Given the description of an element on the screen output the (x, y) to click on. 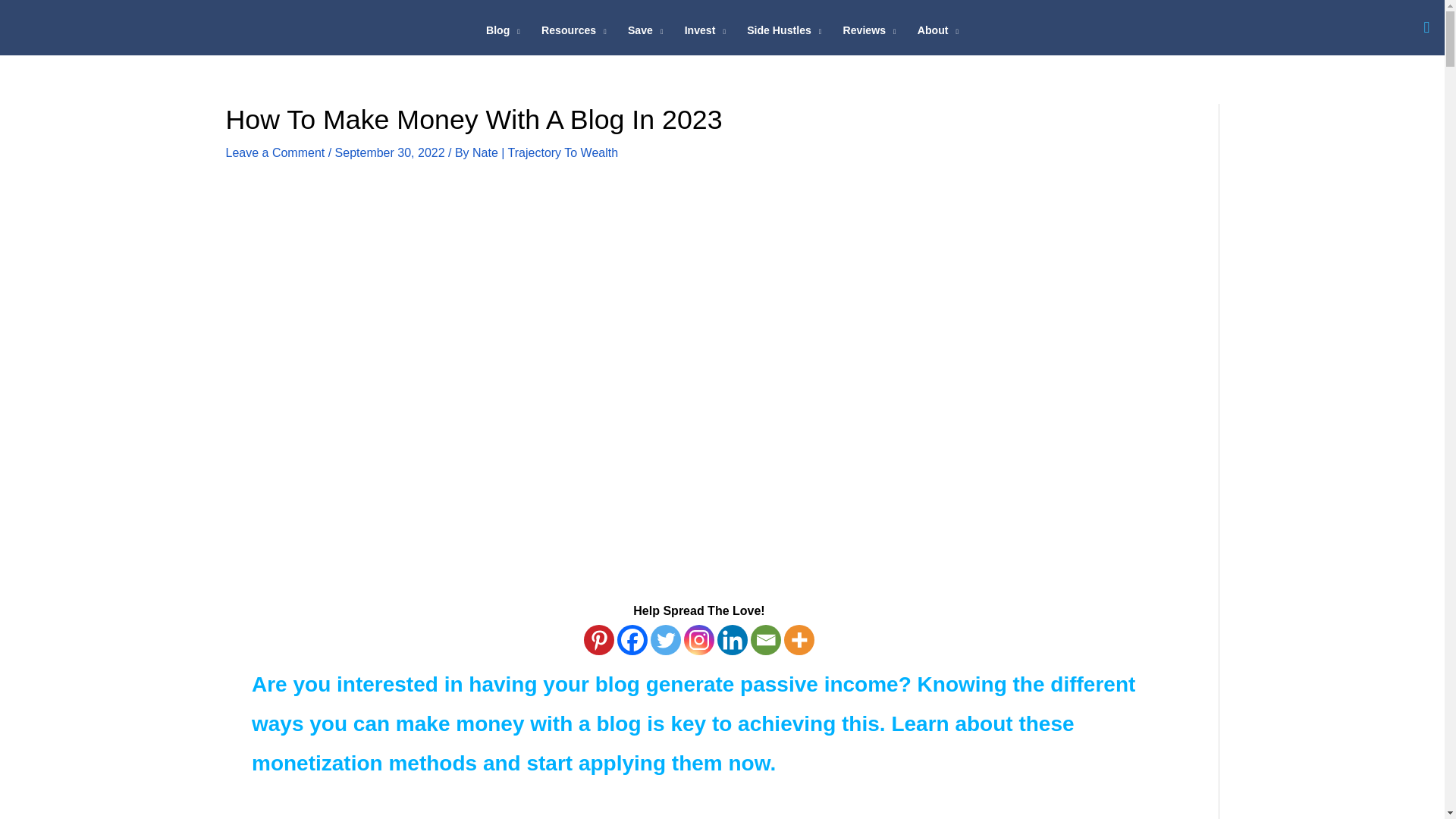
Instagram (699, 639)
Pinterest (598, 639)
Twitter (665, 639)
Facebook (632, 639)
Resources (574, 30)
Save (645, 30)
More (798, 639)
Email (765, 639)
Blog (503, 30)
Linkedin (732, 639)
